Given the description of an element on the screen output the (x, y) to click on. 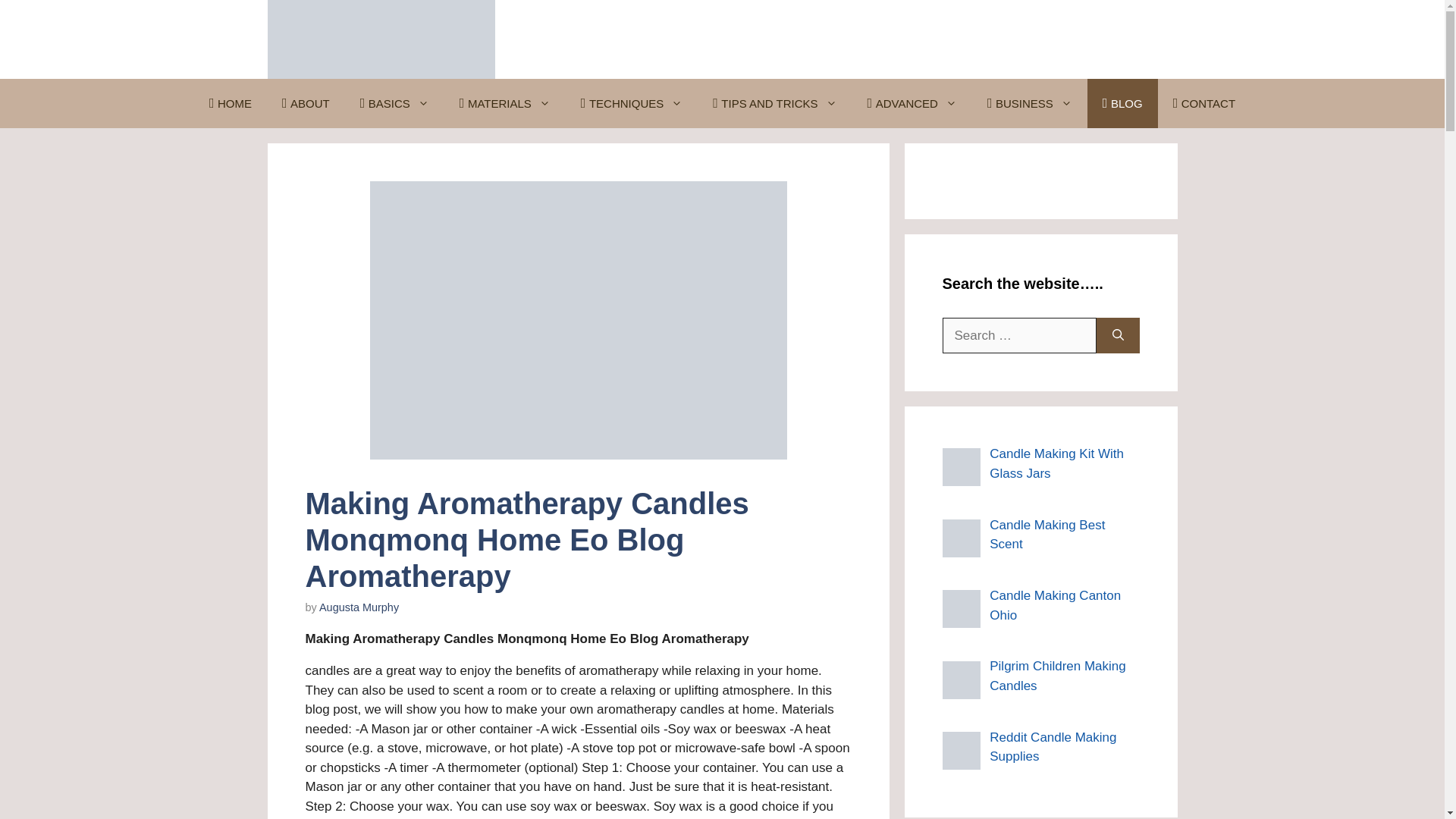
View all posts by Augusta Murphy (358, 607)
